Given the description of an element on the screen output the (x, y) to click on. 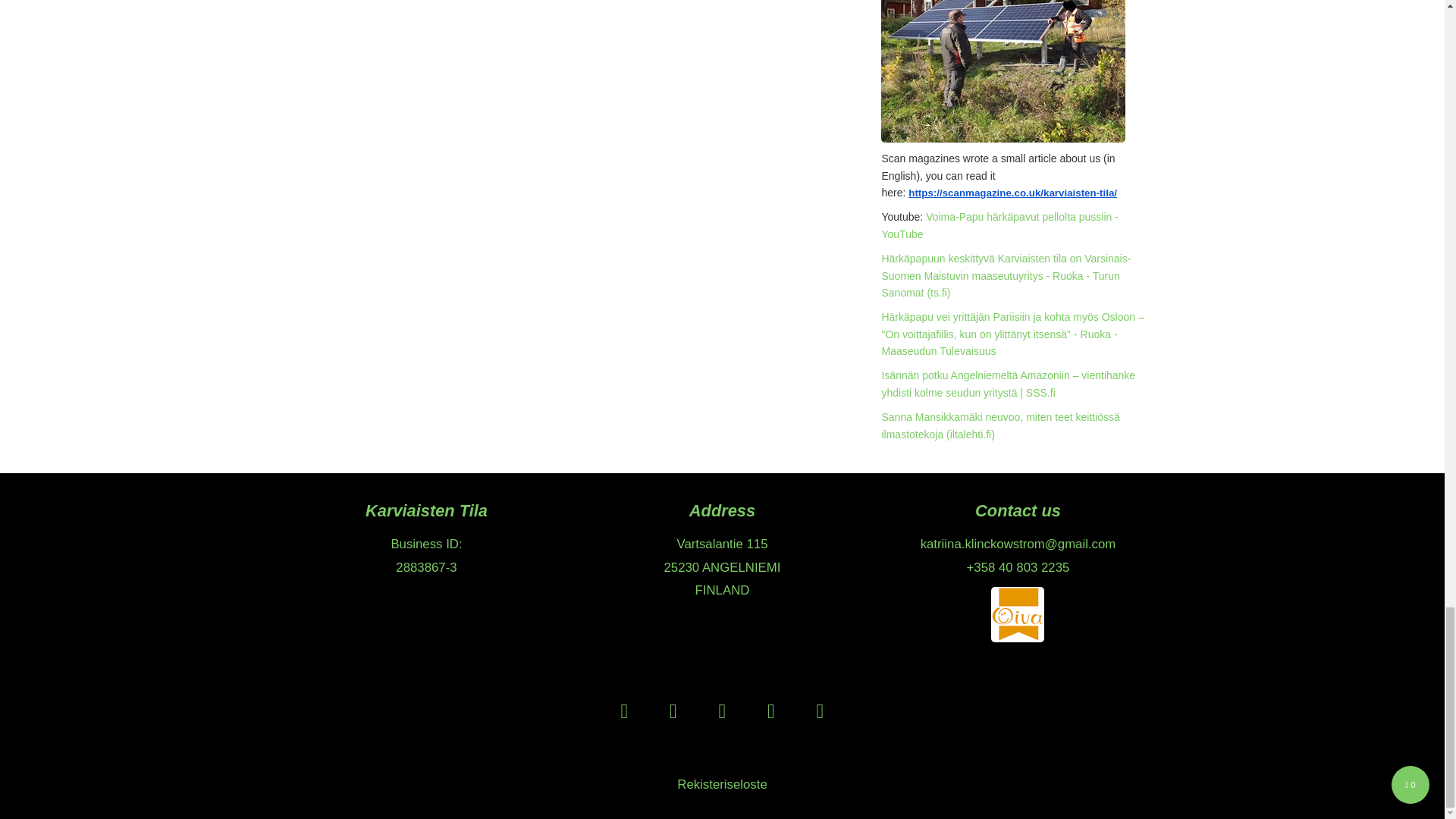
Rekisteriseloste (722, 784)
